Given the description of an element on the screen output the (x, y) to click on. 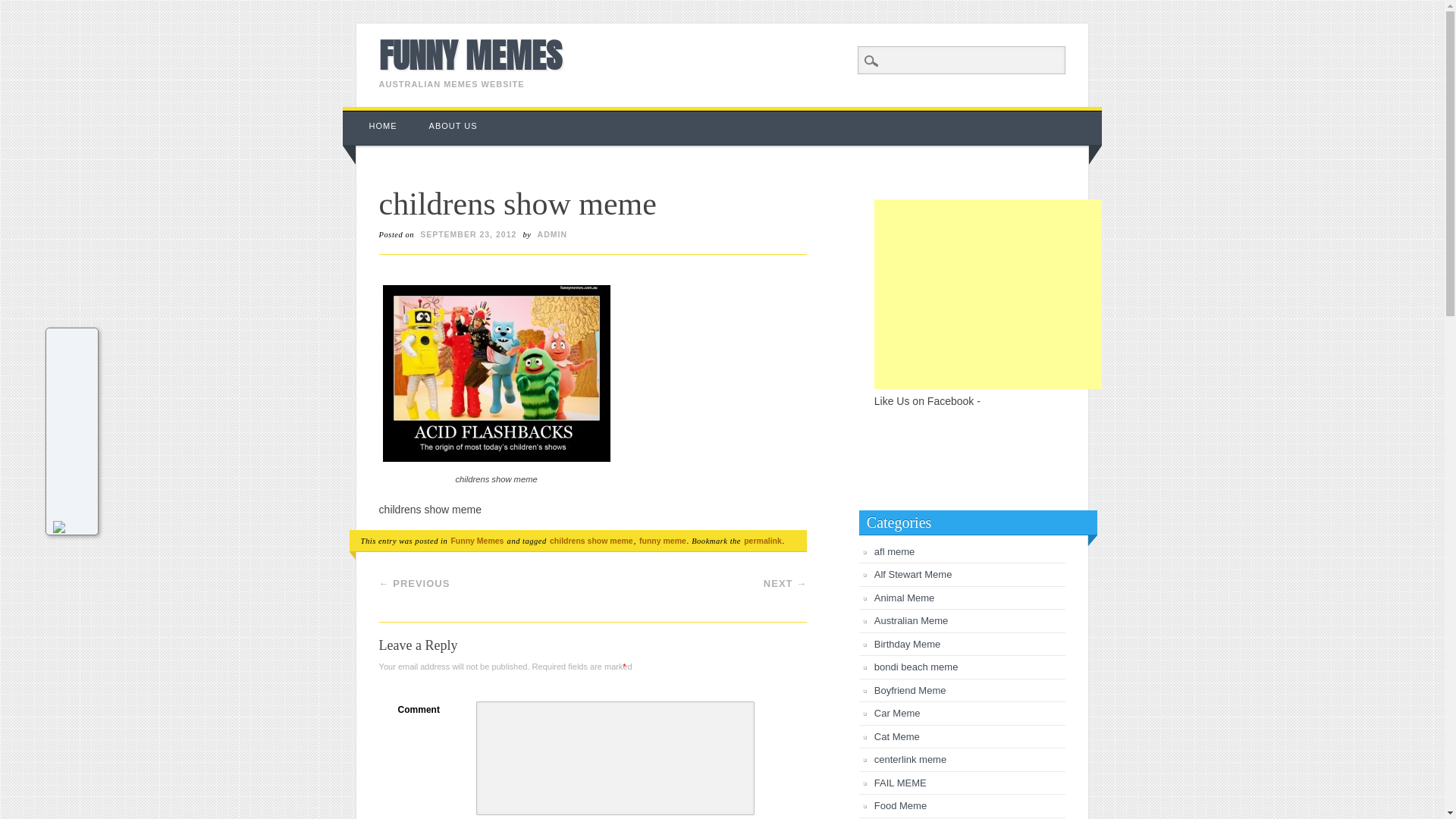
FUNNY MEMES Element type: text (470, 55)
Food Meme Element type: text (900, 805)
Search Element type: text (22, 8)
centerlink meme Element type: text (910, 759)
Cat Meme Element type: text (896, 736)
Birthday Meme Element type: text (907, 643)
Alf Stewart Meme Element type: text (913, 574)
Boyfriend Meme Element type: text (910, 690)
ADMIN Element type: text (552, 233)
SEPTEMBER 23, 2012 Element type: text (468, 233)
FAIL MEME Element type: text (900, 782)
funny meme Element type: text (662, 540)
HOME Element type: text (383, 125)
bondi beach meme Element type: text (916, 666)
Car Meme Element type: text (897, 712)
Australian Meme Element type: text (911, 620)
afl meme Element type: text (894, 551)
Funny Memes Element type: text (476, 540)
Animal Meme Element type: text (904, 597)
childrens show meme Element type: text (591, 540)
Skip to content Element type: text (377, 114)
permalink Element type: text (762, 540)
Advertisement Element type: hover (987, 294)
childrens show meme Element type: hover (496, 373)
ABOUT US Element type: text (453, 125)
